Given the description of an element on the screen output the (x, y) to click on. 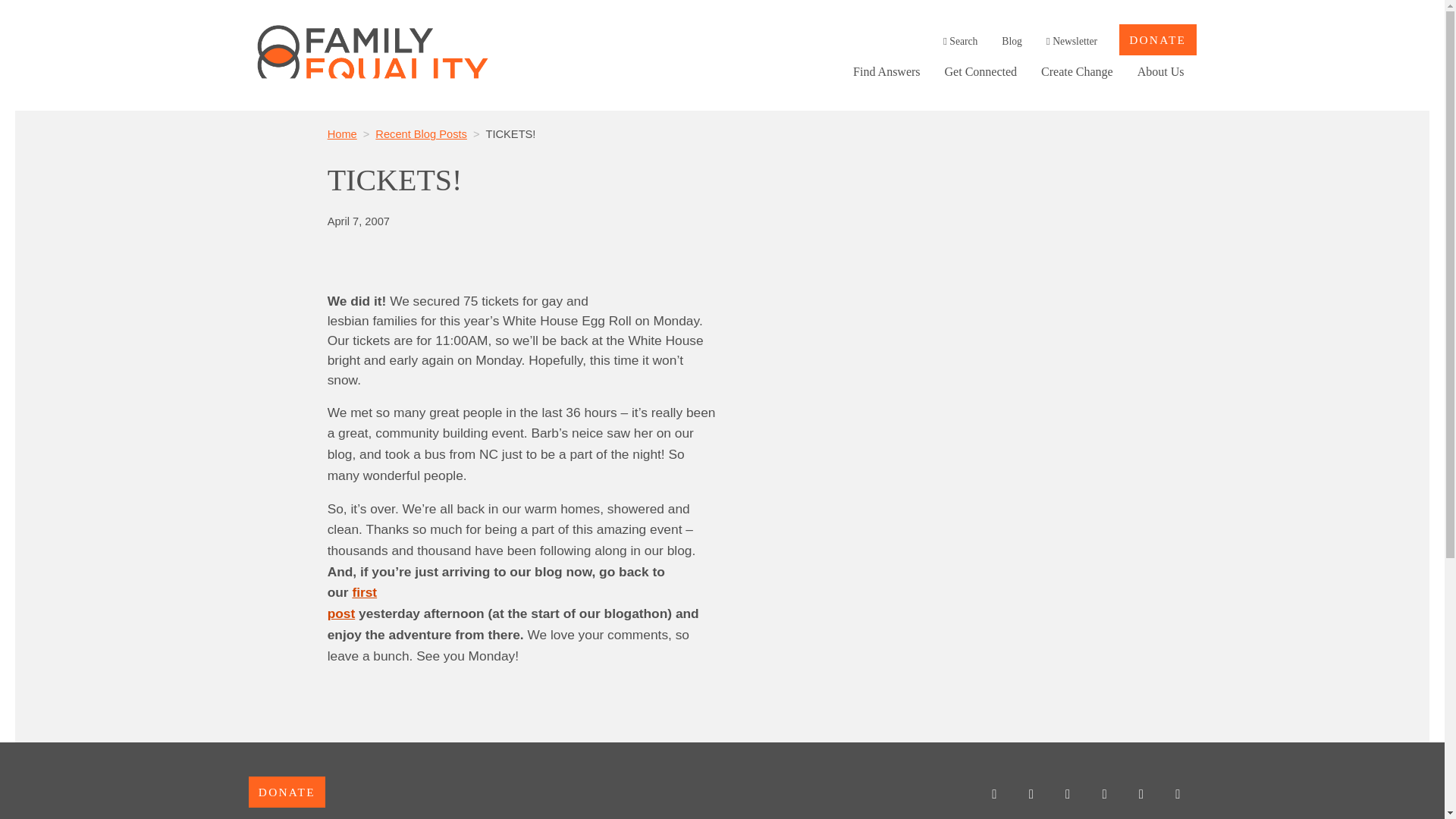
Instagram (993, 794)
Youtube (1067, 794)
Home (352, 602)
Threads (341, 133)
Blog (1104, 794)
Search (1011, 40)
Linkedin (960, 40)
Find Answers (1140, 794)
Newsletter (886, 71)
